Given the description of an element on the screen output the (x, y) to click on. 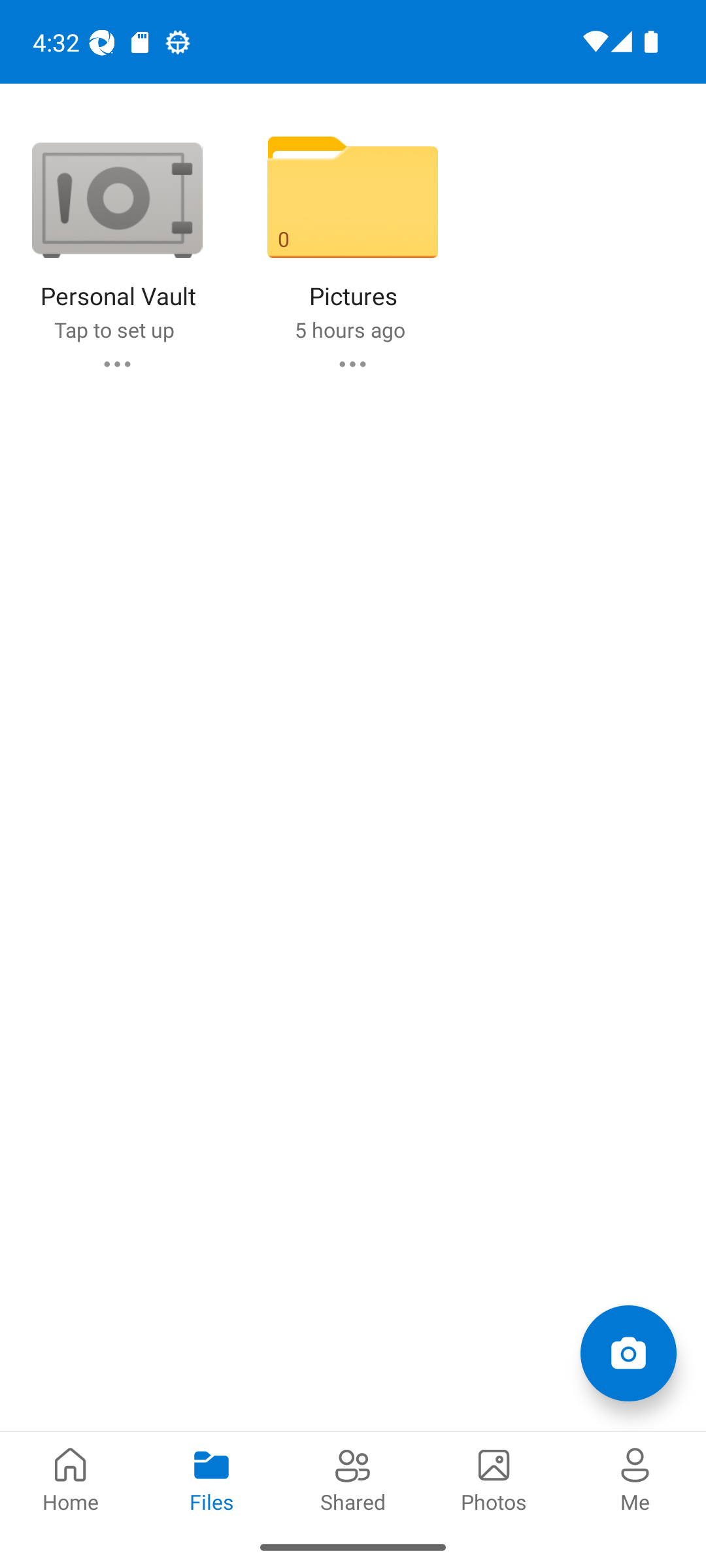
Tap to set up (113, 329)
5 hours ago (349, 329)
Personal Vault commands (116, 363)
Pictures commands (352, 363)
Add items Scan (628, 1352)
Home pivot Home (70, 1478)
Shared pivot Shared (352, 1478)
Photos pivot Photos (493, 1478)
Me pivot Me (635, 1478)
